Given the description of an element on the screen output the (x, y) to click on. 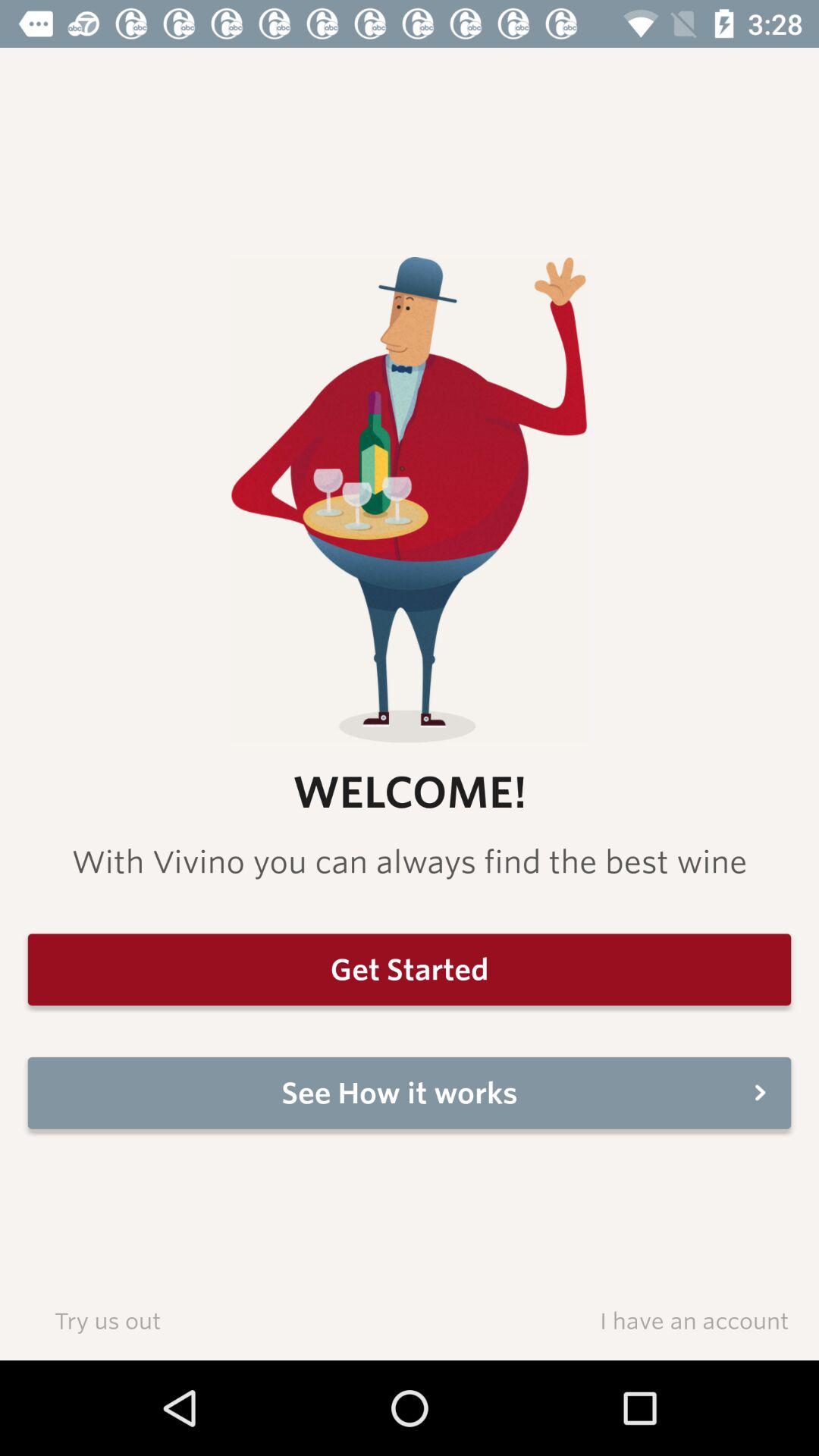
turn off item below get started item (409, 1092)
